Given the description of an element on the screen output the (x, y) to click on. 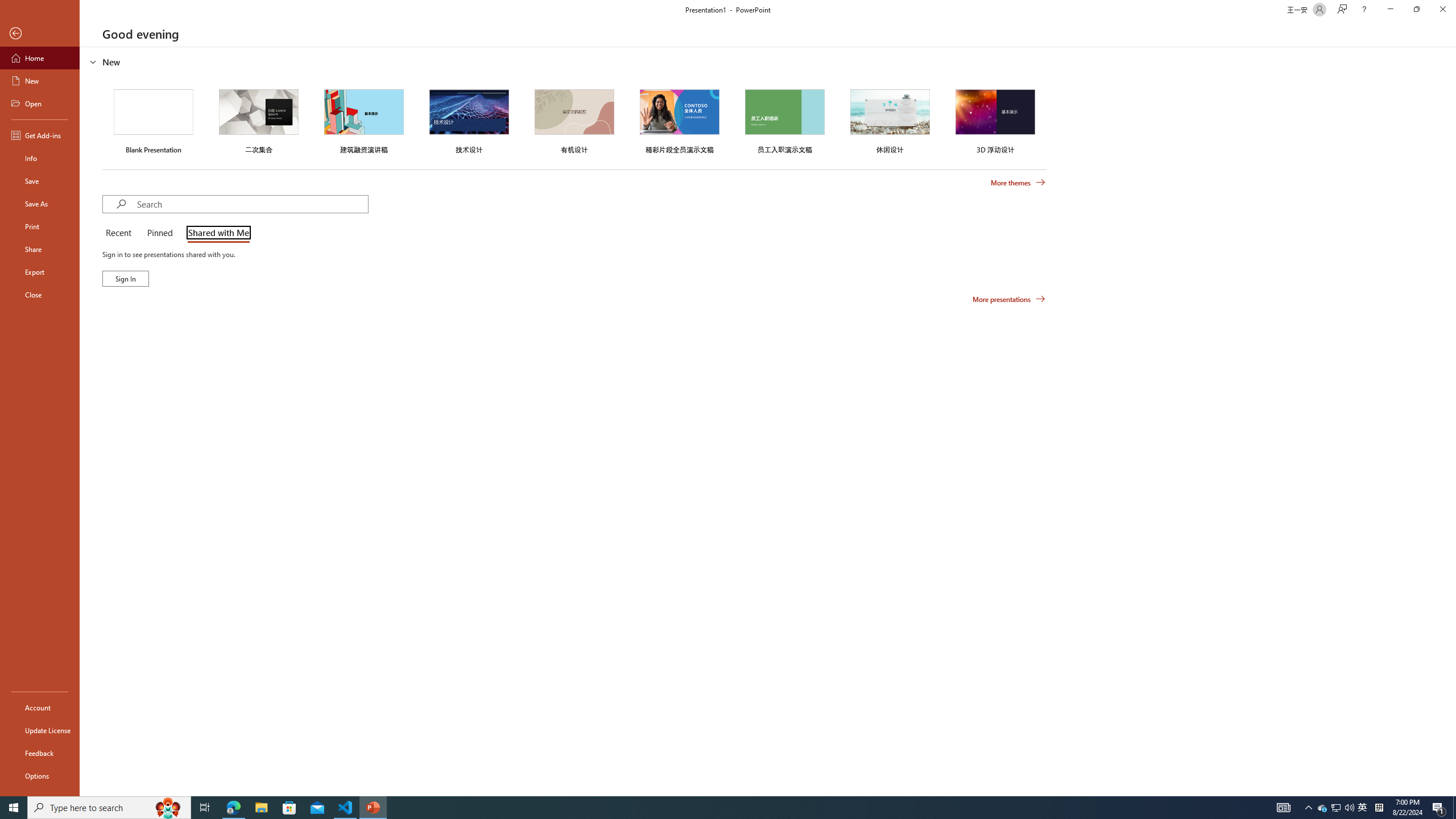
Blank Presentation (153, 119)
Back (40, 33)
New (40, 80)
Pinned (159, 233)
Options (40, 775)
Feedback (40, 753)
